Given the description of an element on the screen output the (x, y) to click on. 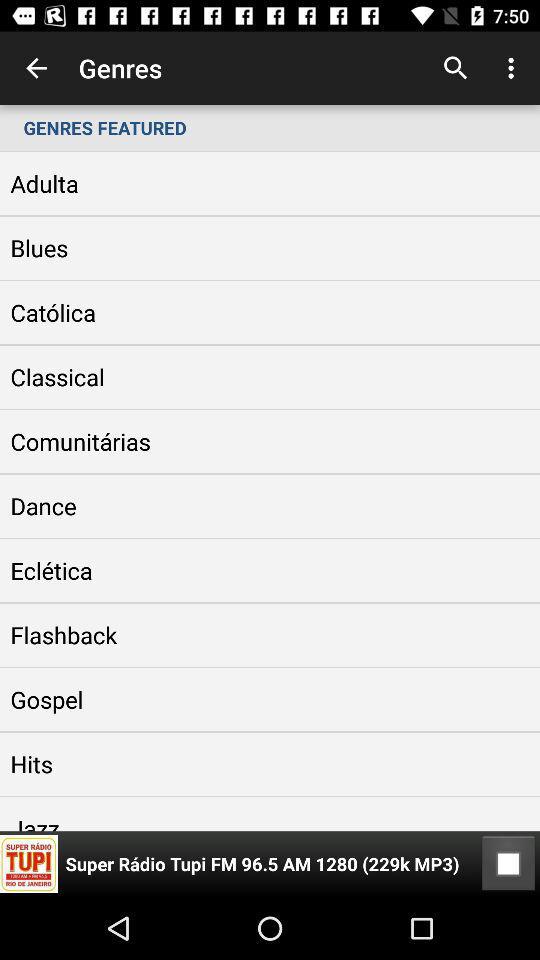
click item above the genres featured item (36, 68)
